Given the description of an element on the screen output the (x, y) to click on. 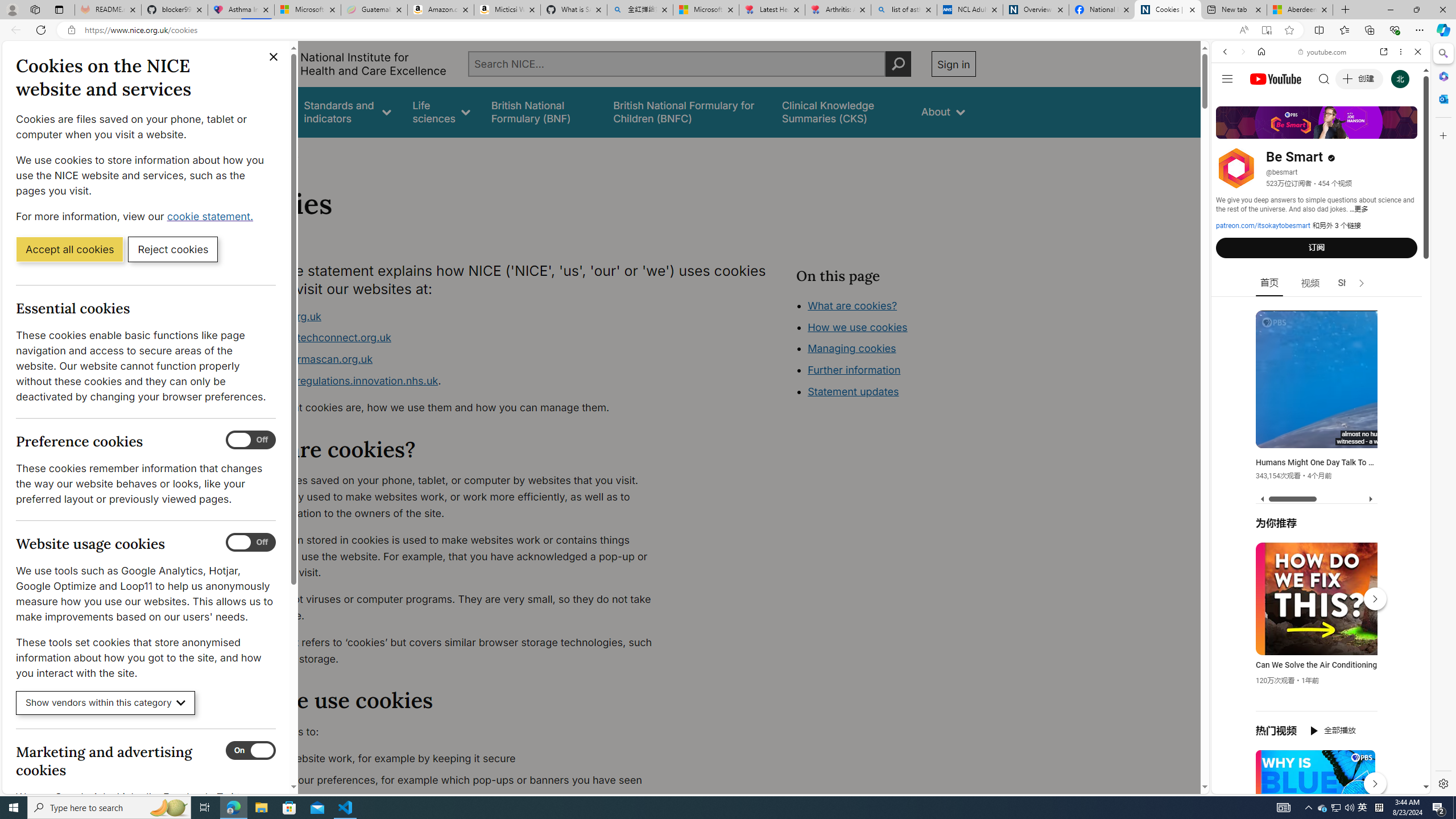
Search Filter, WEB (1230, 129)
Aberdeen, Hong Kong SAR hourly forecast | Microsoft Weather (1300, 9)
Website usage cookies (250, 542)
Click to scroll right (1407, 456)
Search Filter, VIDEOS (1300, 129)
Asthma Inhalers: Names and Types (240, 9)
www.healthtechconnect.org.uk (314, 337)
Statement updates (853, 391)
About (942, 111)
Trailer #2 [HD] (1320, 337)
